Given the description of an element on the screen output the (x, y) to click on. 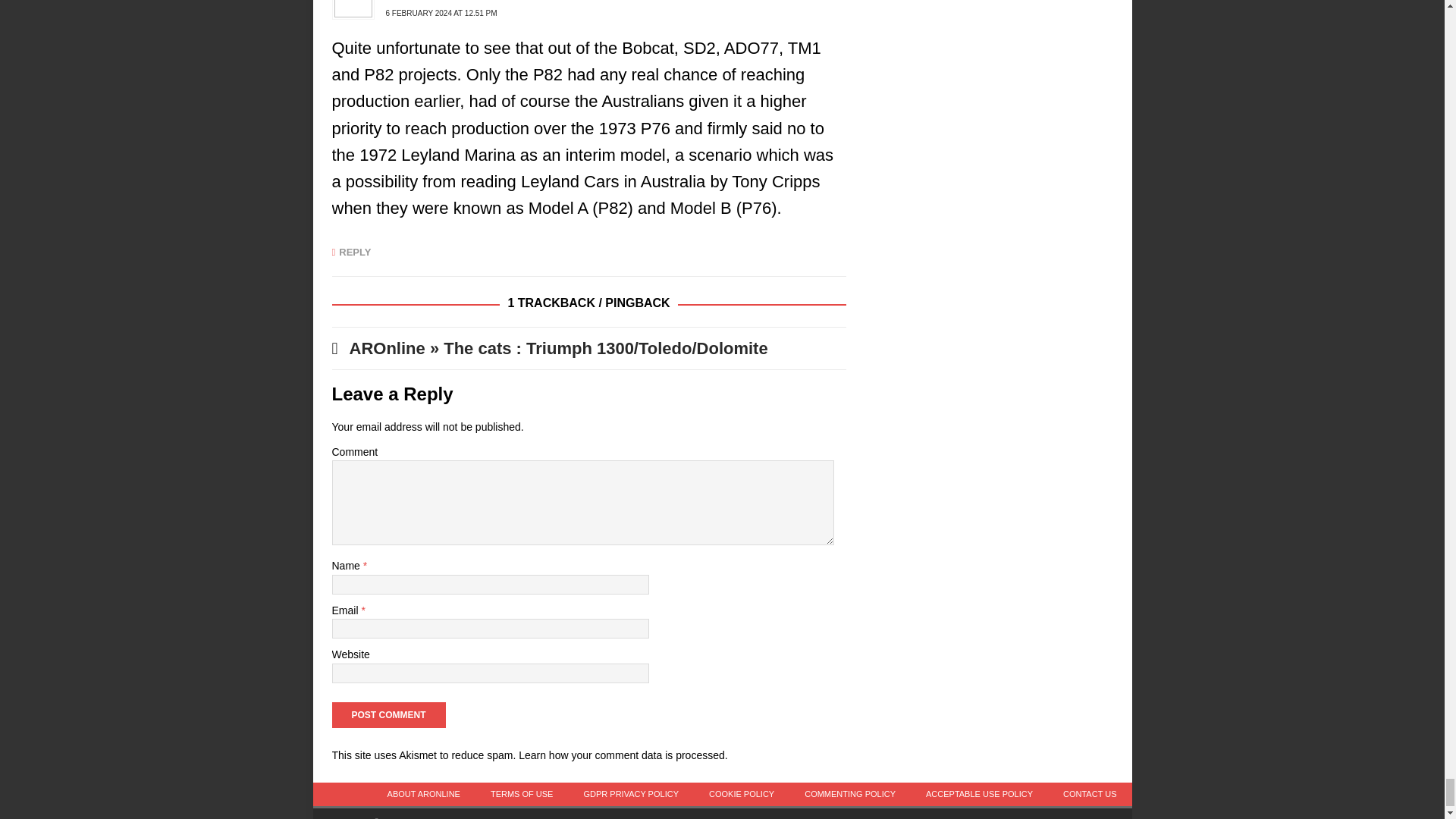
Post Comment (388, 714)
